Given the description of an element on the screen output the (x, y) to click on. 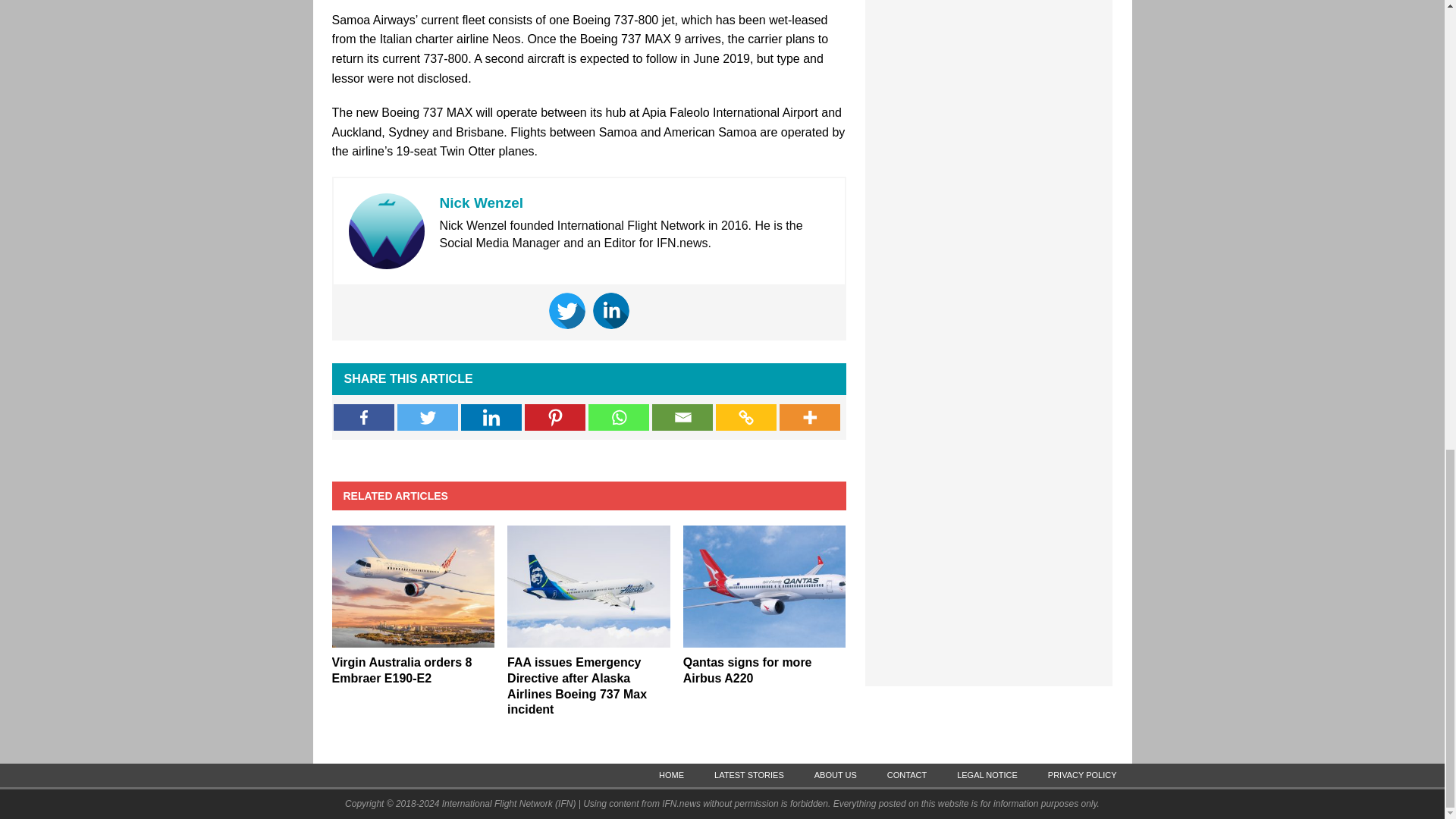
Whatsapp (618, 417)
Linkedin (491, 417)
Twitter (566, 310)
Facebook (363, 417)
Linkedin (610, 310)
Pinterest (554, 417)
Email (682, 417)
Twitter (427, 417)
